Given the description of an element on the screen output the (x, y) to click on. 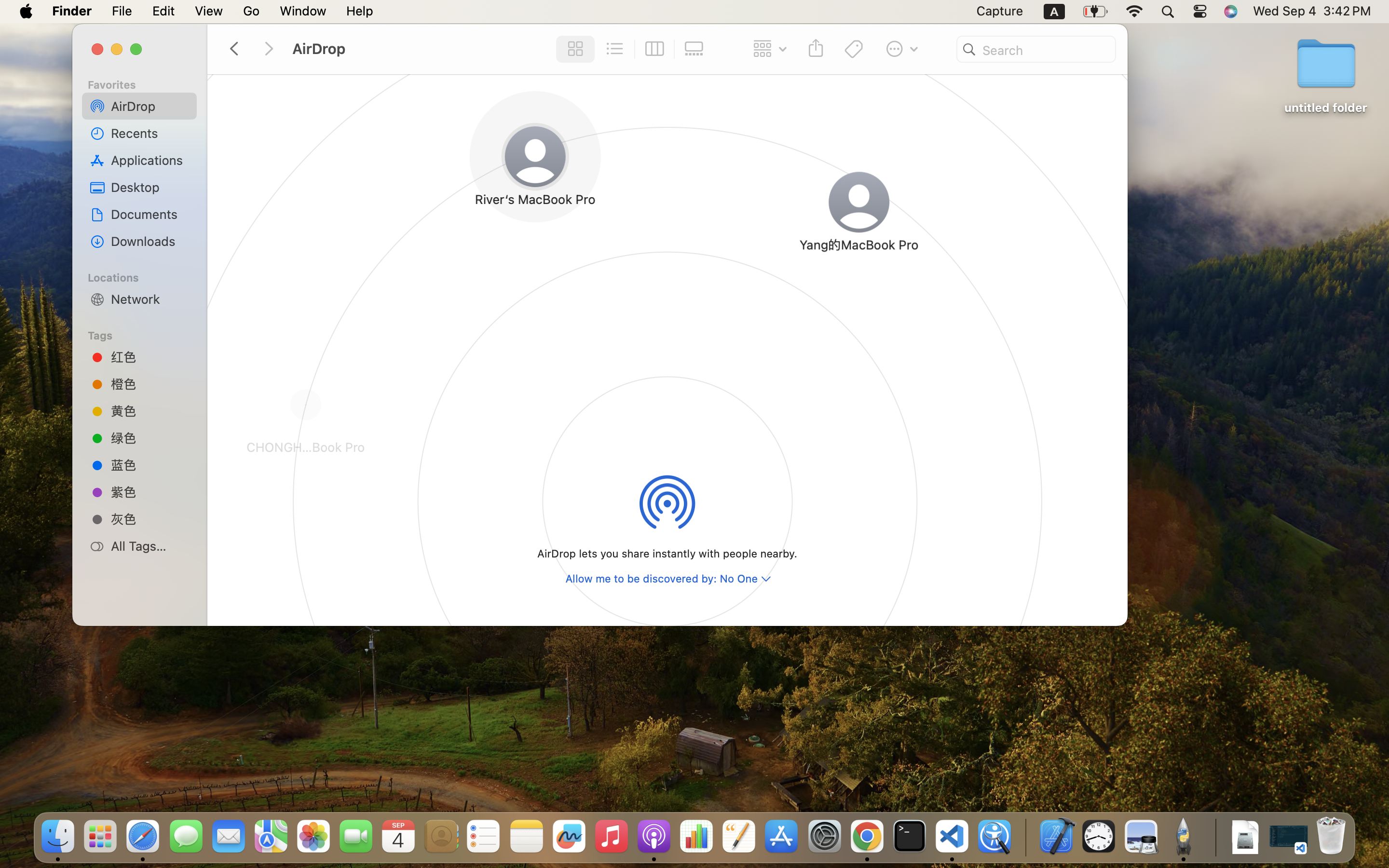
<AXUIElement 0x15b198760> {pid=510} Element type: AXRadioGroup (633, 48)
AirDrop Element type: AXStaticText (149, 105)
0.4285714328289032 Element type: AXDockItem (1024, 836)
0 Element type: AXRadioButton (696, 48)
Desktop Element type: AXStaticText (149, 186)
